Given the description of an element on the screen output the (x, y) to click on. 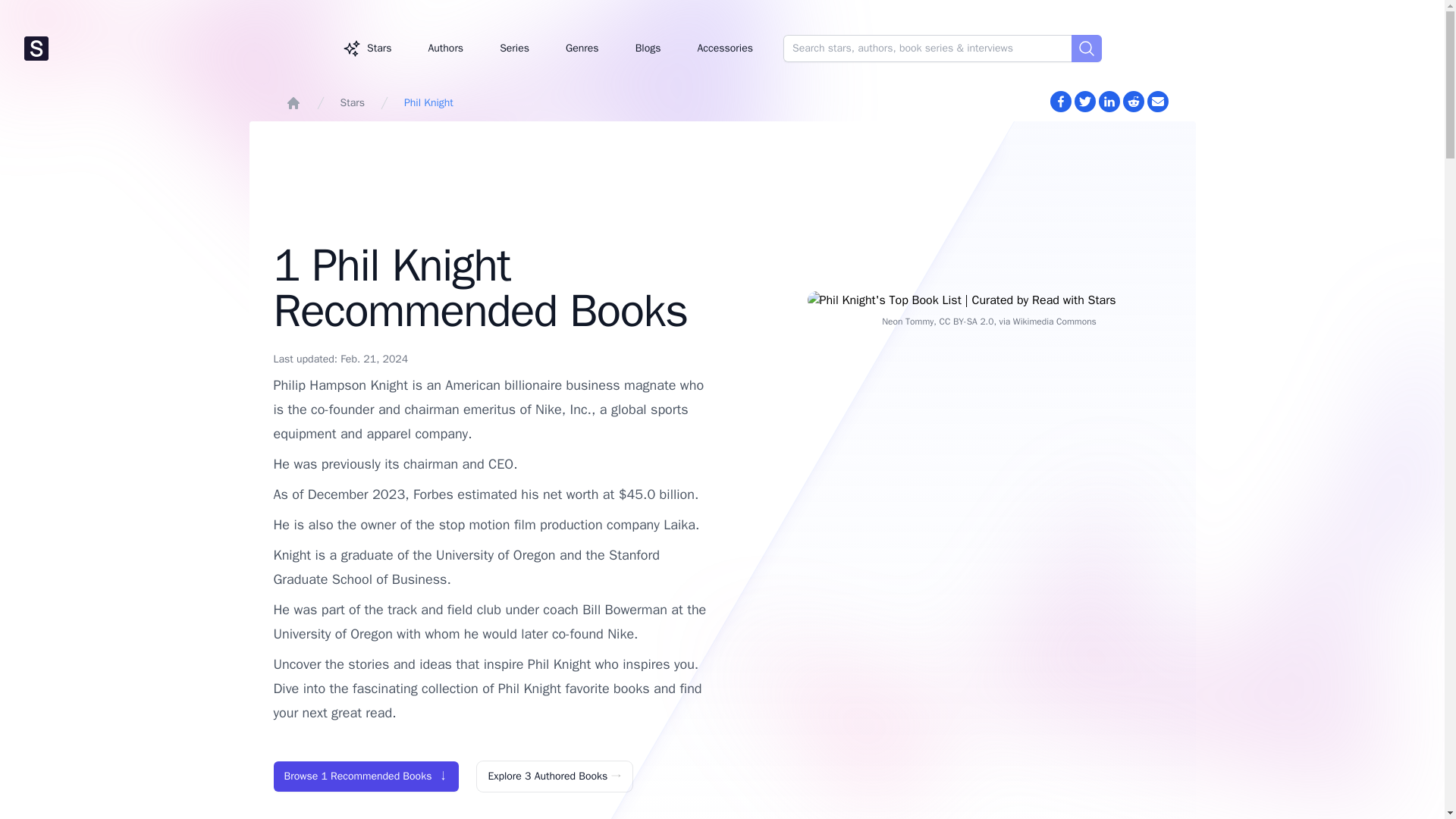
Stars (366, 48)
Neon Tommy (907, 321)
Home (292, 102)
Blogs (647, 48)
Genres (582, 48)
Series (514, 48)
Accessories (724, 48)
Stars (351, 102)
Phil Knight (428, 102)
Read with Stars (181, 48)
CC BY-SA 2.0 (965, 321)
Authors (445, 48)
